Given the description of an element on the screen output the (x, y) to click on. 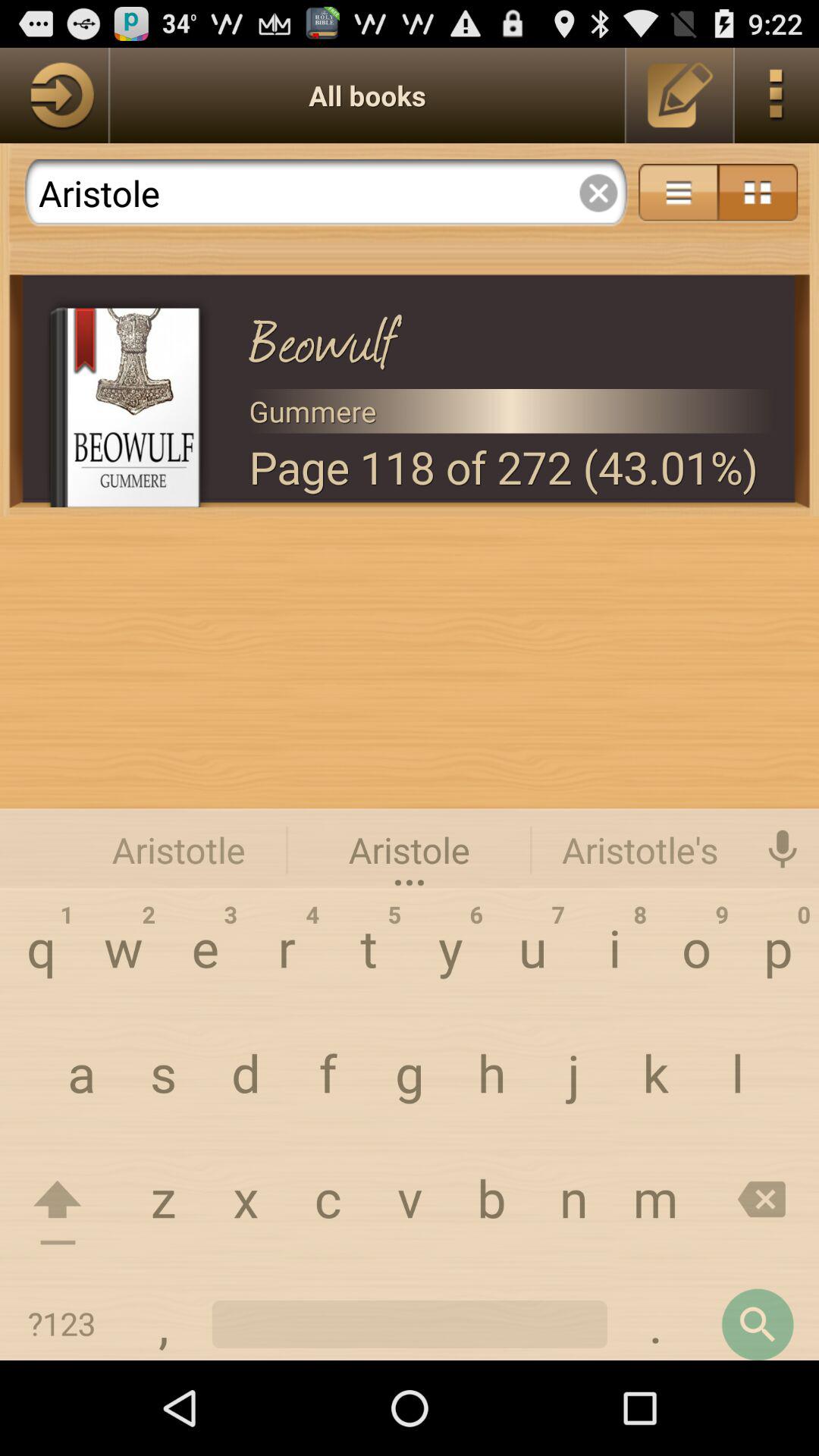
close option (598, 192)
